Given the description of an element on the screen output the (x, y) to click on. 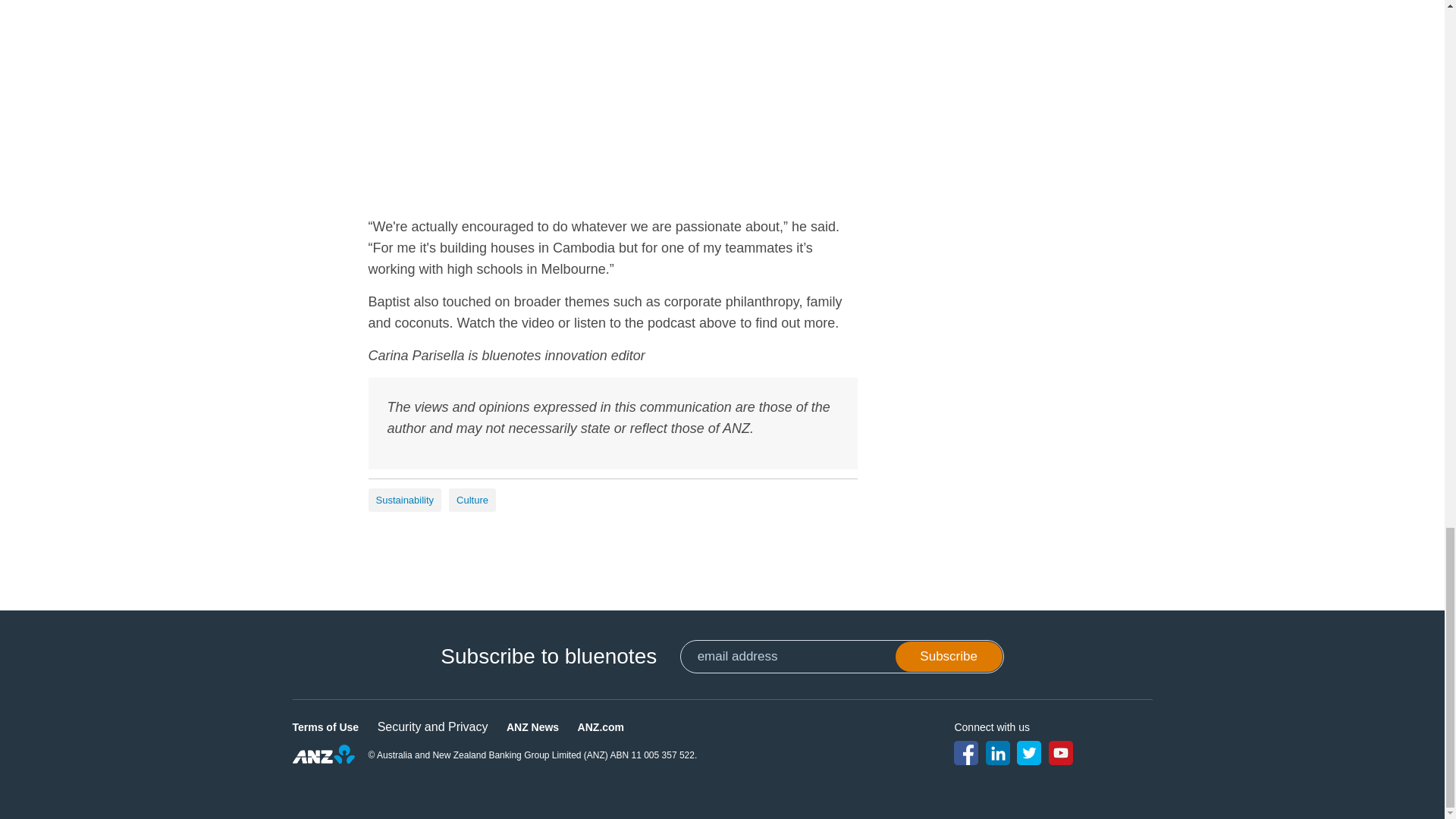
Culture (472, 499)
Sustainability (405, 499)
ANZ News (532, 727)
Terms of Use (325, 727)
ANZ.com (601, 727)
